Given the description of an element on the screen output the (x, y) to click on. 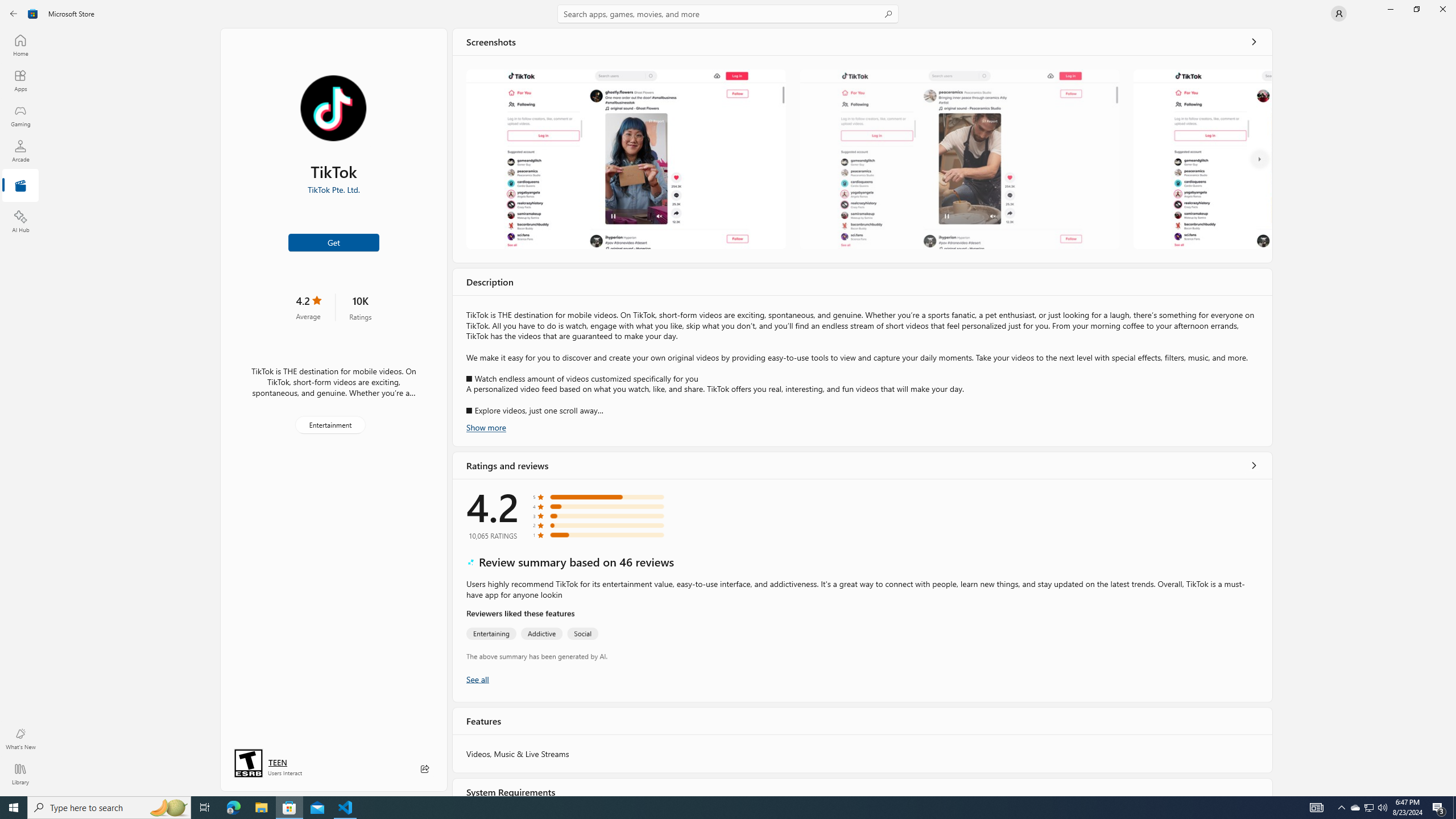
Arcade (20, 150)
Back (13, 13)
Age rating: TEEN. Click for more information. (276, 762)
Minimize Microsoft Store (1390, 9)
Show all ratings and reviews (1253, 465)
Screenshot 2 (959, 158)
Gaming (20, 115)
What's New (20, 738)
AutomationID: NavigationControl (728, 398)
Search (727, 13)
Show all ratings and reviews (477, 678)
Screenshot 3 (1201, 158)
Show more (485, 426)
Apps (20, 80)
